Given the description of an element on the screen output the (x, y) to click on. 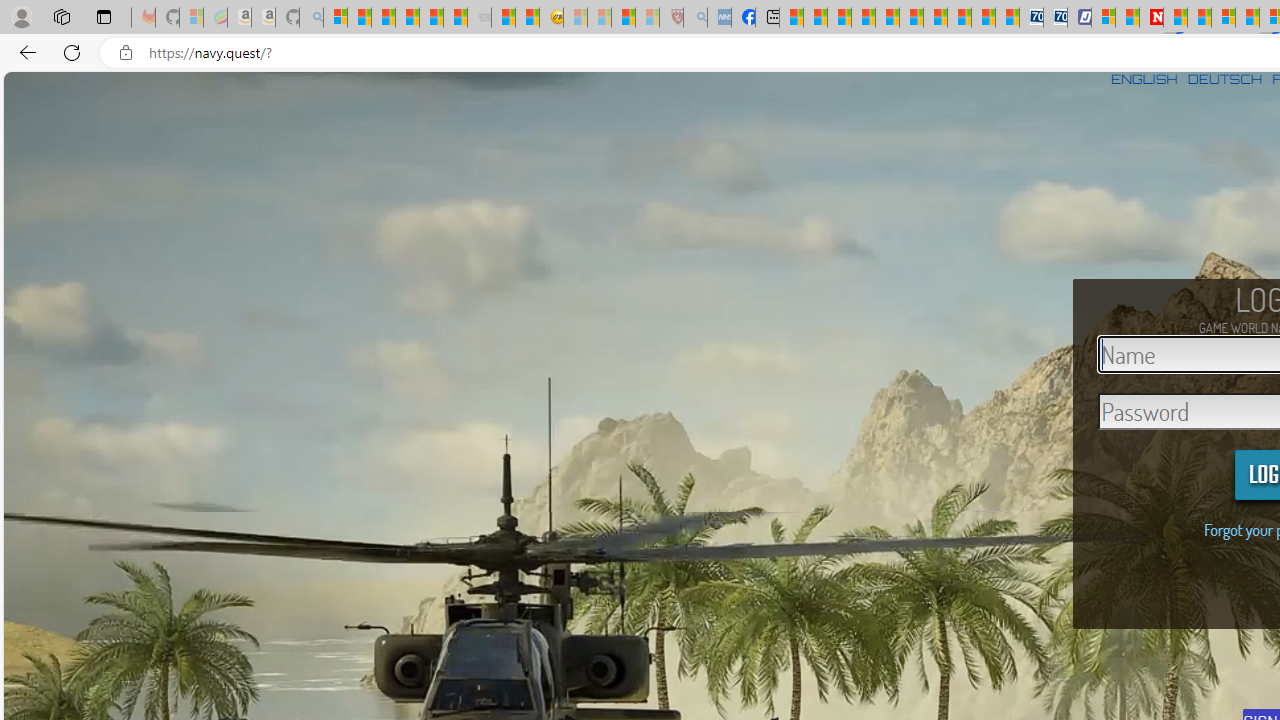
ENGLISH (1144, 79)
Climate Damage Becomes Too Severe To Reverse (863, 17)
Latest Politics News & Archive | Newsweek.com (1151, 17)
